Given the description of an element on the screen output the (x, y) to click on. 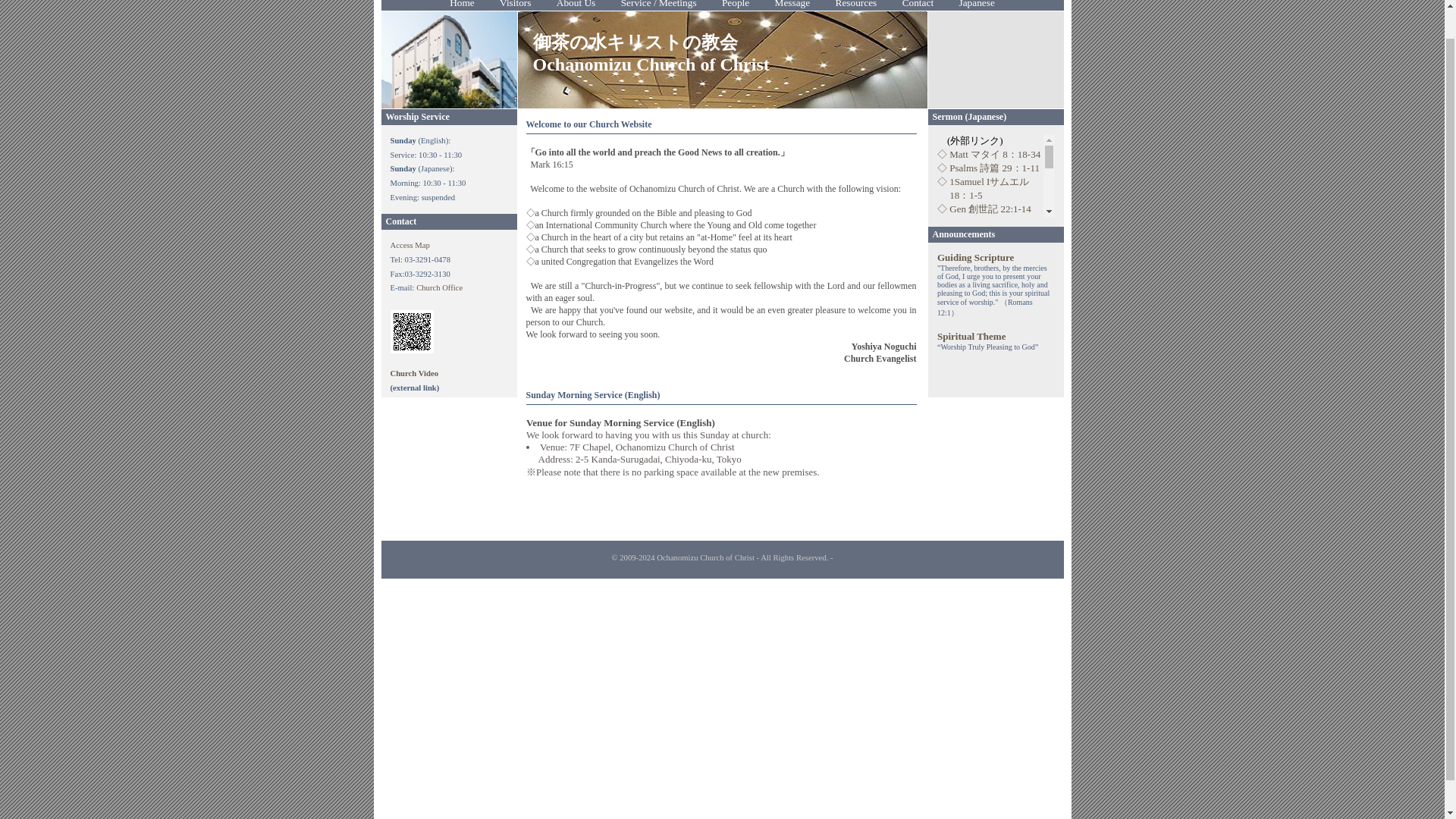
Resources (856, 6)
Church Office (439, 287)
Visitors (514, 6)
Access Map (409, 244)
Japanese (976, 6)
About Us (575, 6)
Contact (917, 6)
Home (462, 6)
Message (792, 6)
People (735, 6)
